Given the description of an element on the screen output the (x, y) to click on. 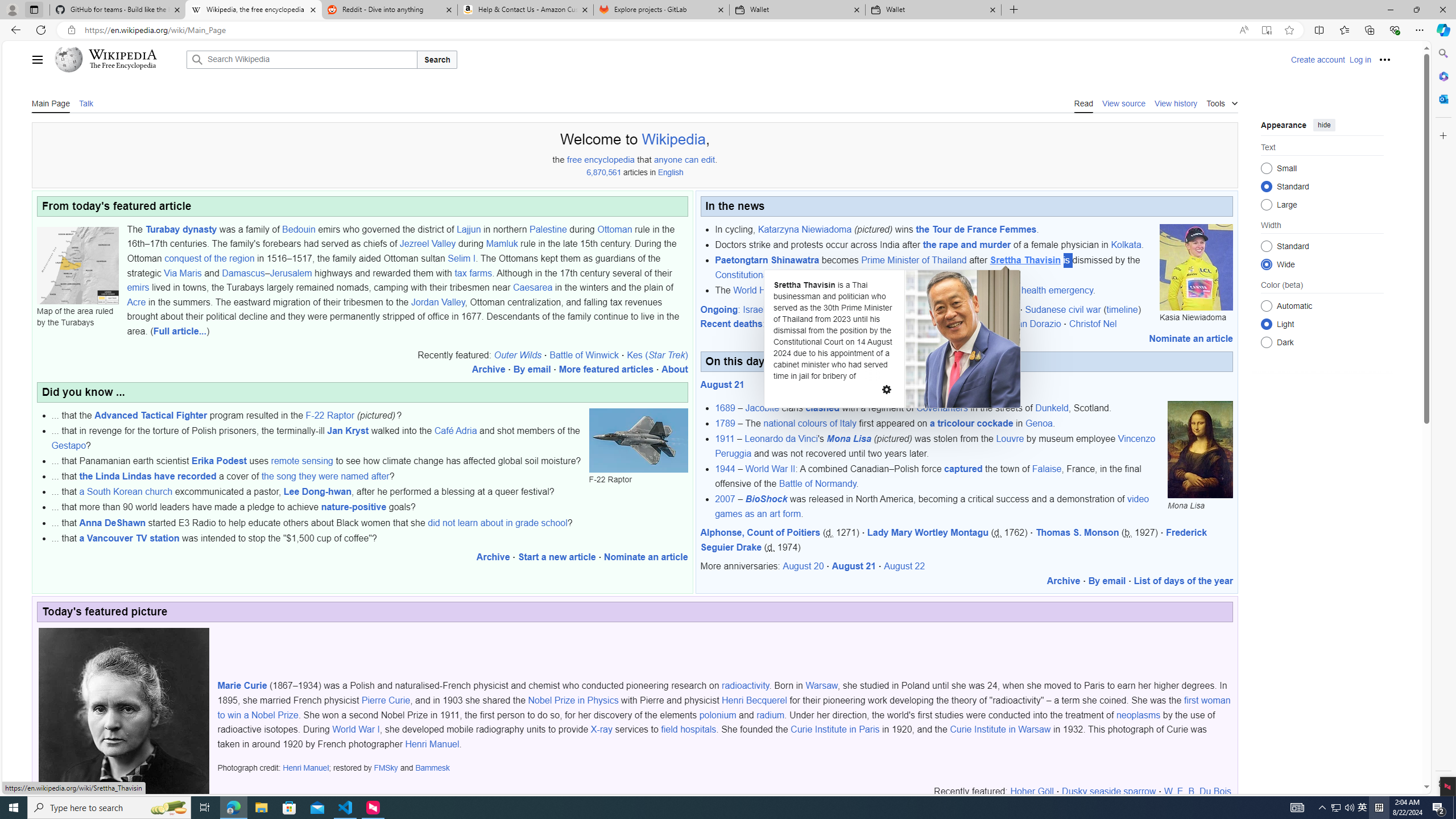
Jordan Valley (437, 301)
Recent deaths (731, 324)
Mona Lisa (1200, 449)
Main Page (50, 102)
radioactivity (746, 685)
View source (1123, 102)
Turabay dynasty (180, 229)
